Given the description of an element on the screen output the (x, y) to click on. 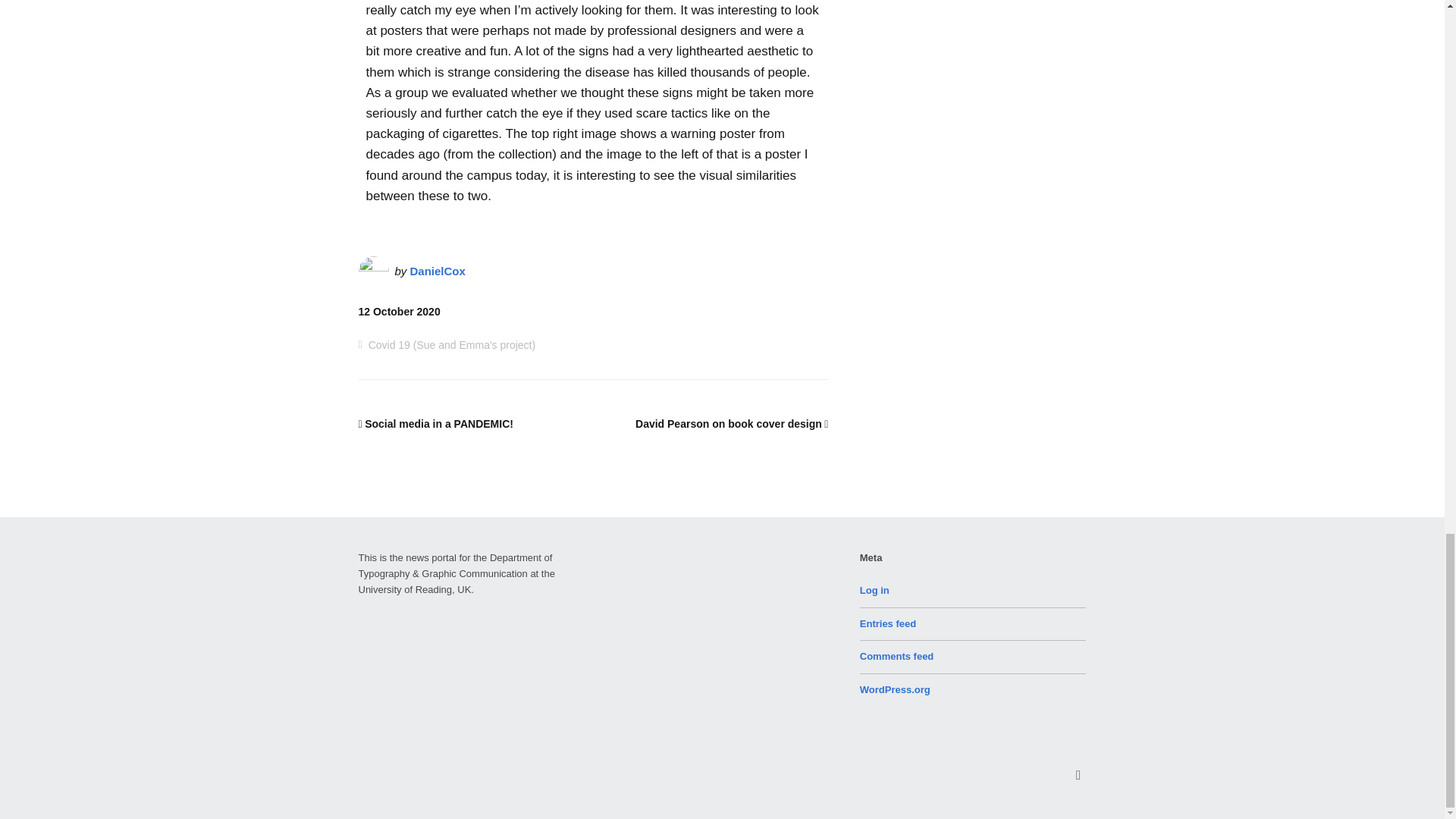
Log in (874, 590)
Entries feed (887, 622)
David Pearson on book cover design (731, 423)
Comments feed (897, 655)
DanielCox (437, 270)
Social media in a PANDEMIC! (435, 423)
